Given the description of an element on the screen output the (x, y) to click on. 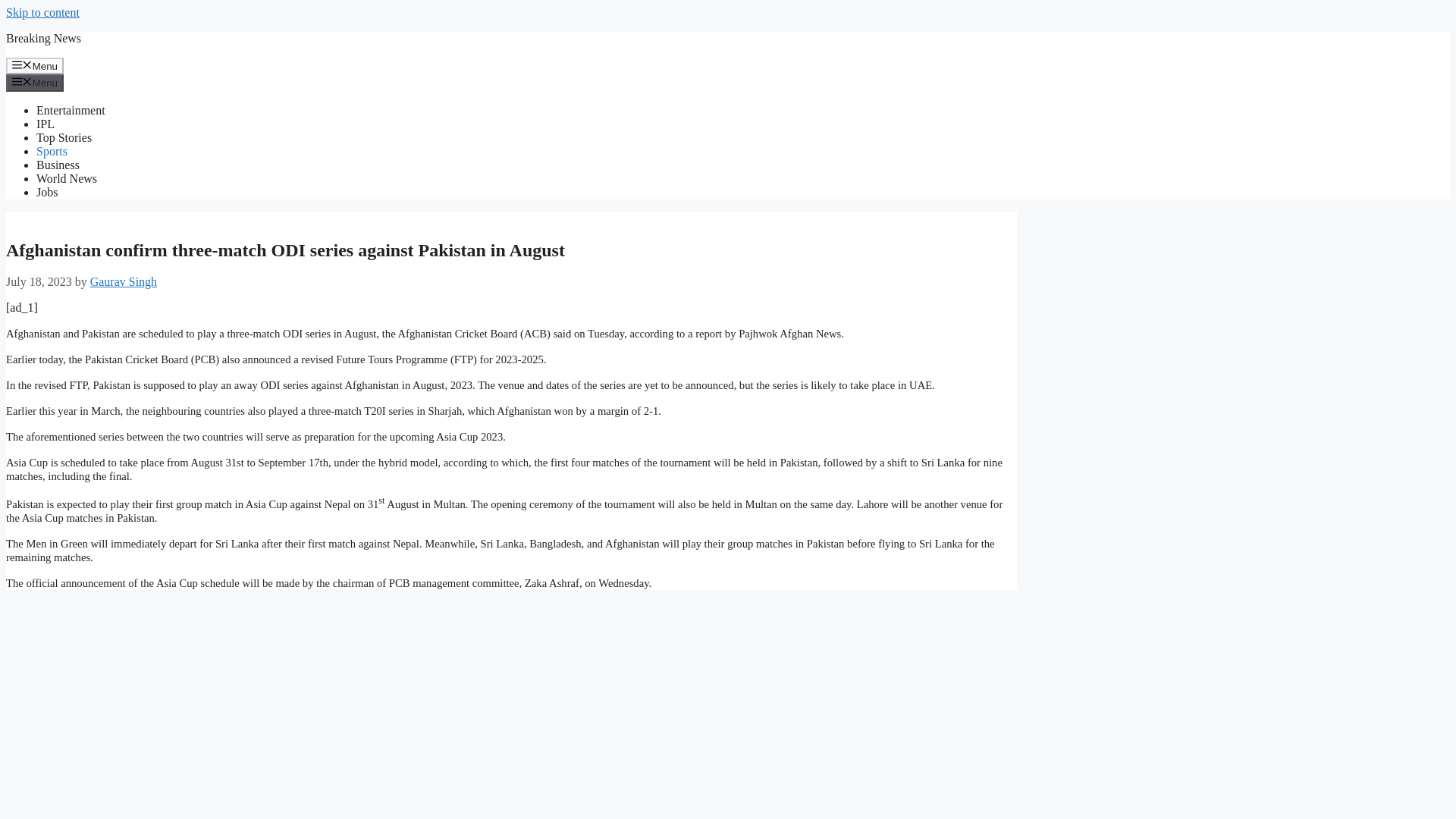
Jobs (47, 192)
Entertainment (70, 110)
Skip to content (42, 11)
Breaking News (43, 38)
Menu (34, 65)
IPL (45, 123)
World News (66, 178)
Business (58, 164)
Gaurav Singh (123, 281)
Skip to content (42, 11)
Top Stories (63, 137)
Menu (34, 82)
View all posts by Gaurav Singh (123, 281)
Sports (51, 151)
